Given the description of an element on the screen output the (x, y) to click on. 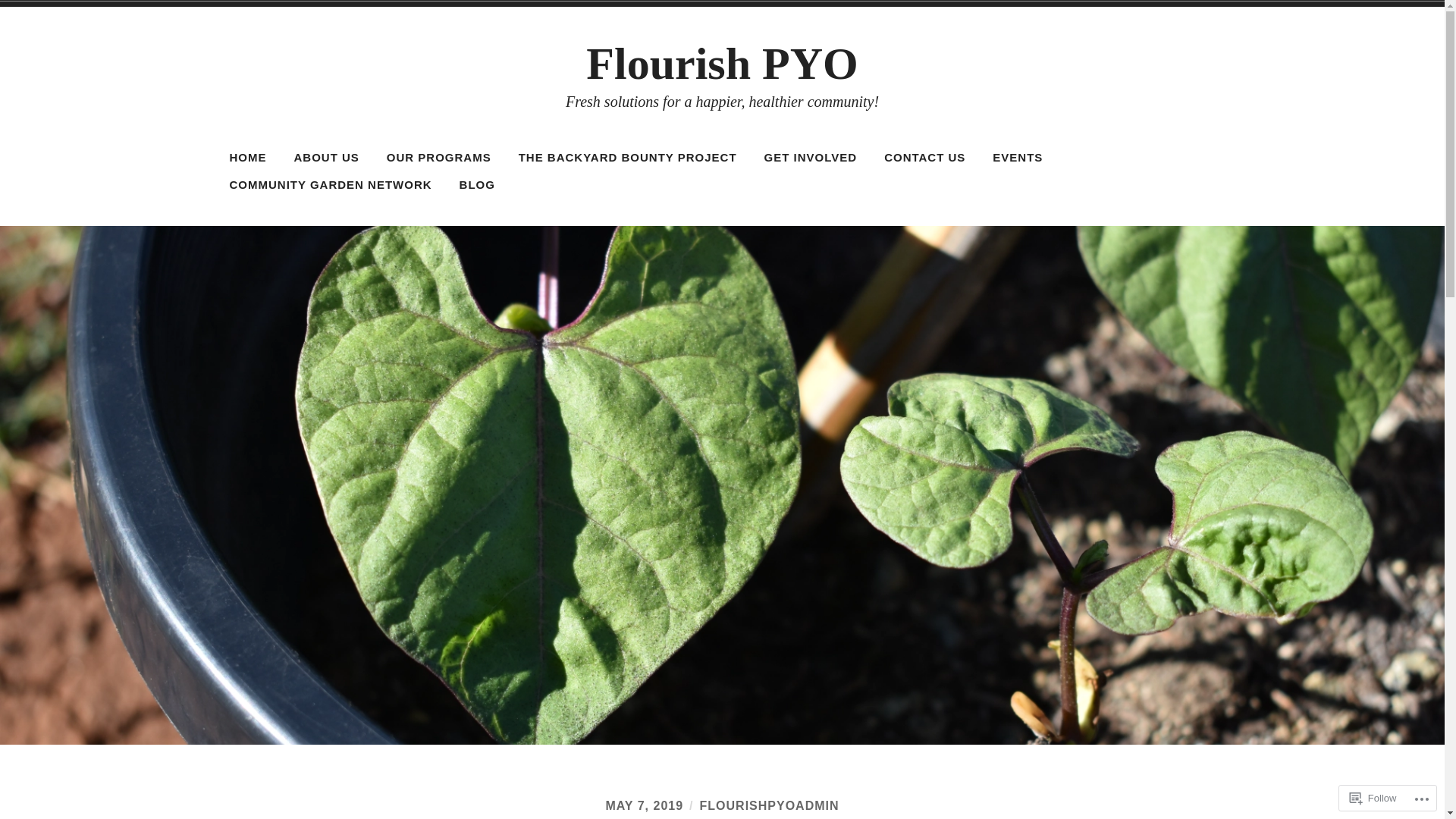
BLOG Element type: text (477, 184)
GET INVOLVED Element type: text (811, 157)
OUR PROGRAMS Element type: text (438, 157)
ABOUT US Element type: text (326, 157)
FLOURISHPYOADMIN Element type: text (769, 805)
CONTACT US Element type: text (924, 157)
THE BACKYARD BOUNTY PROJECT Element type: text (627, 157)
EVENTS Element type: text (1017, 157)
COMMUNITY GARDEN NETWORK Element type: text (330, 184)
Flourish PYO Element type: text (721, 63)
Follow Element type: text (1372, 797)
HOME Element type: text (248, 157)
